Given the description of an element on the screen output the (x, y) to click on. 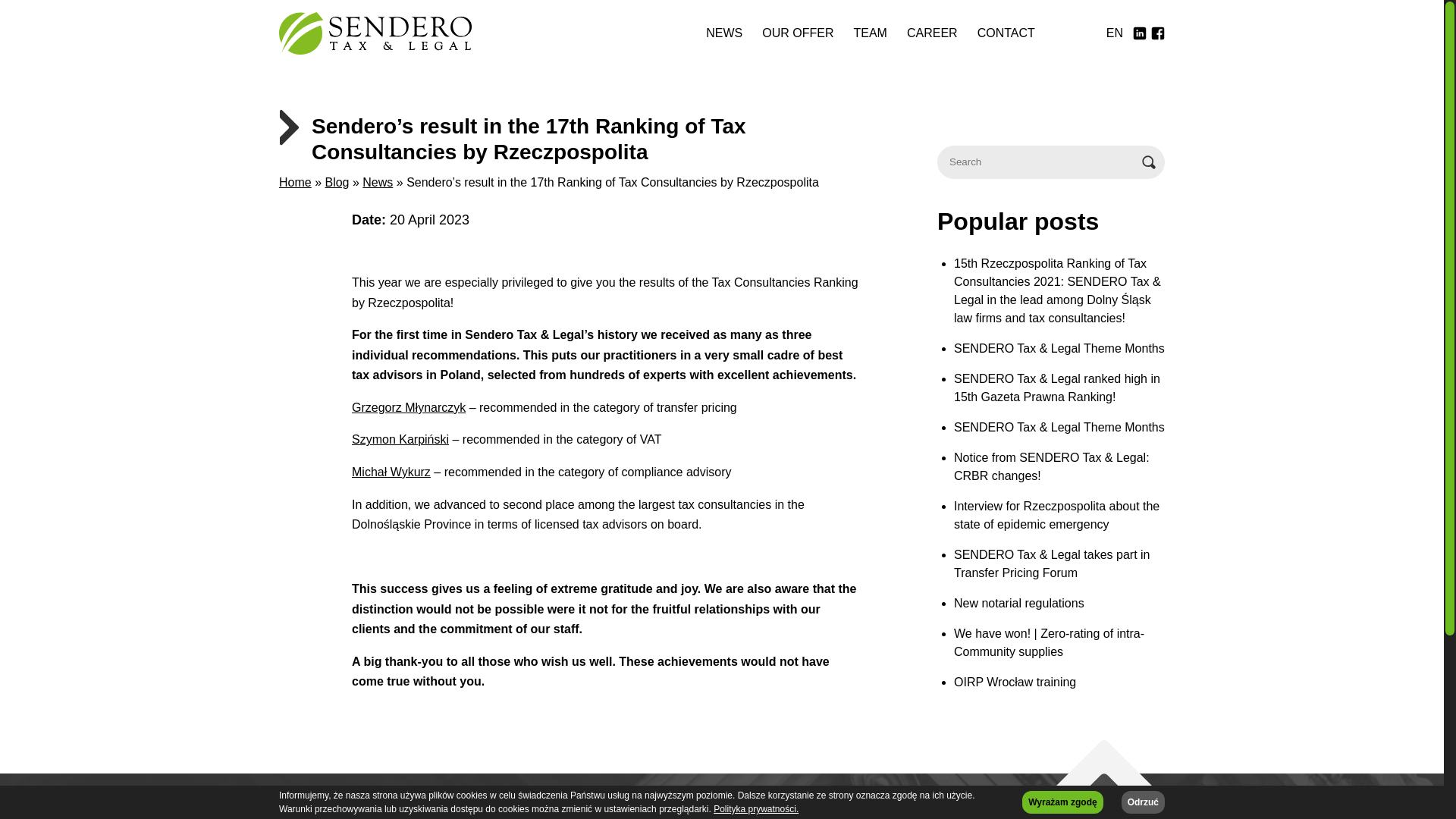
CAREER (932, 33)
CONTACT (1006, 33)
New notarial regulations (1058, 603)
OUR OFFER (797, 33)
Blog (336, 182)
News (377, 182)
EN (1114, 33)
EN (1114, 33)
Home (295, 182)
